Given the description of an element on the screen output the (x, y) to click on. 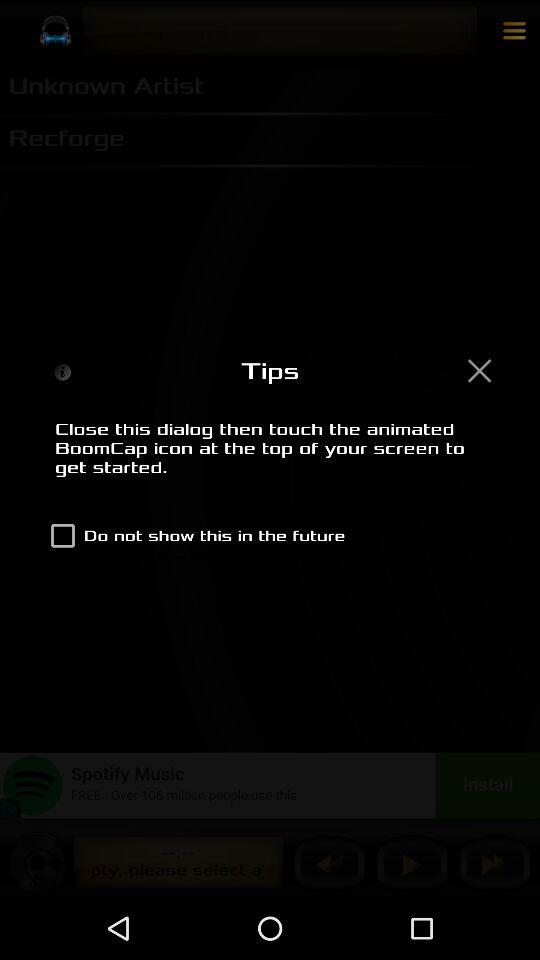
open the item on the right (479, 370)
